Given the description of an element on the screen output the (x, y) to click on. 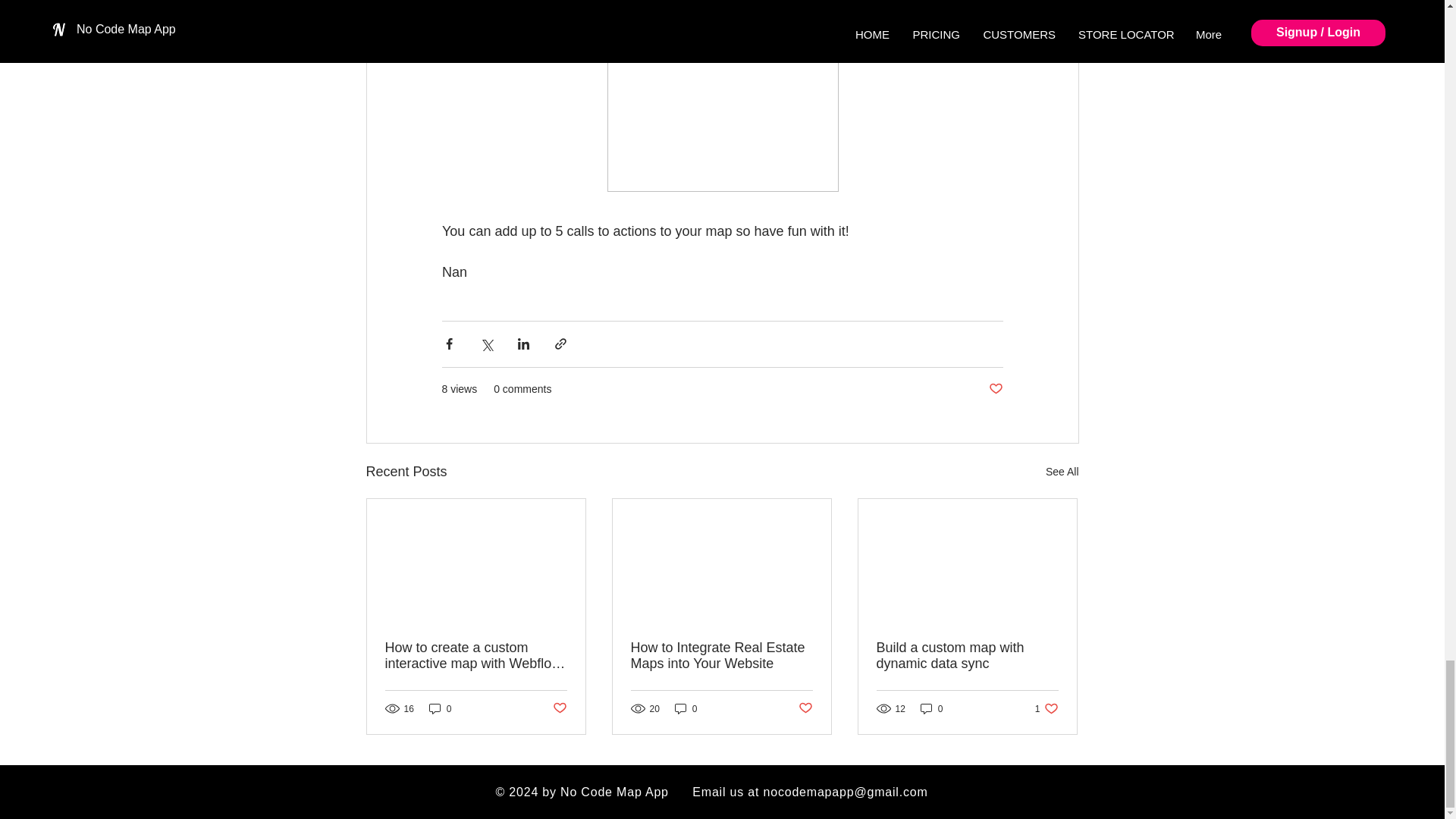
0 (685, 708)
Post not marked as liked (995, 389)
0 (1046, 708)
How to Integrate Real Estate Maps into Your Website (440, 708)
See All (721, 655)
Build a custom map with dynamic data sync (1061, 472)
Post not marked as liked (967, 655)
How to create a custom interactive map with Webflow CMS (558, 708)
Post not marked as liked (476, 655)
